Given the description of an element on the screen output the (x, y) to click on. 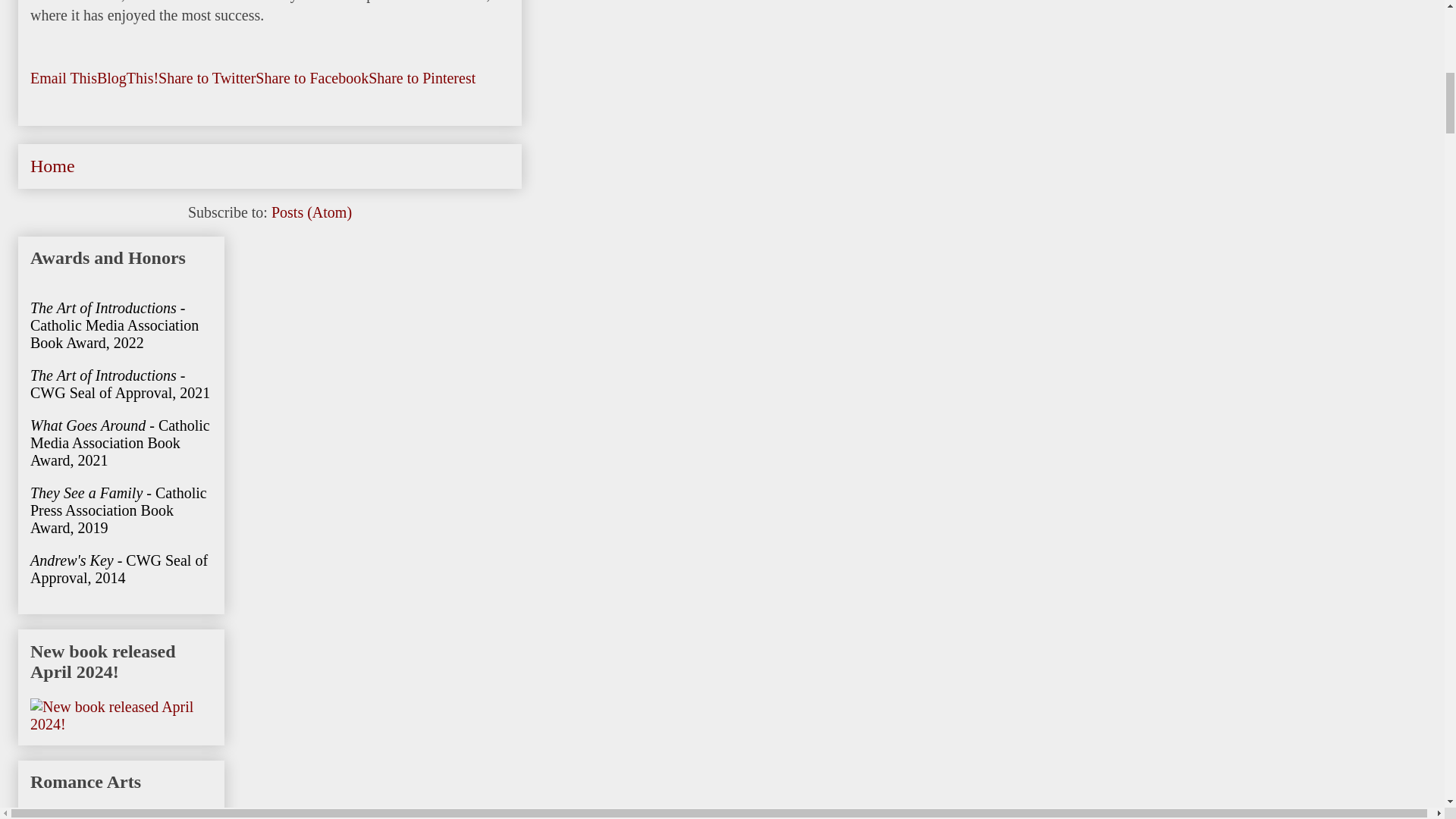
Nook (421, 1)
Share to Twitter (207, 77)
Share to Twitter (207, 77)
Share to Facebook (312, 77)
Home (52, 166)
Share to Pinterest (422, 77)
Email This (63, 77)
Share to Facebook (312, 77)
Email This (63, 77)
BlogThis! (127, 77)
BlogThis! (127, 77)
Share to Pinterest (422, 77)
